Given the description of an element on the screen output the (x, y) to click on. 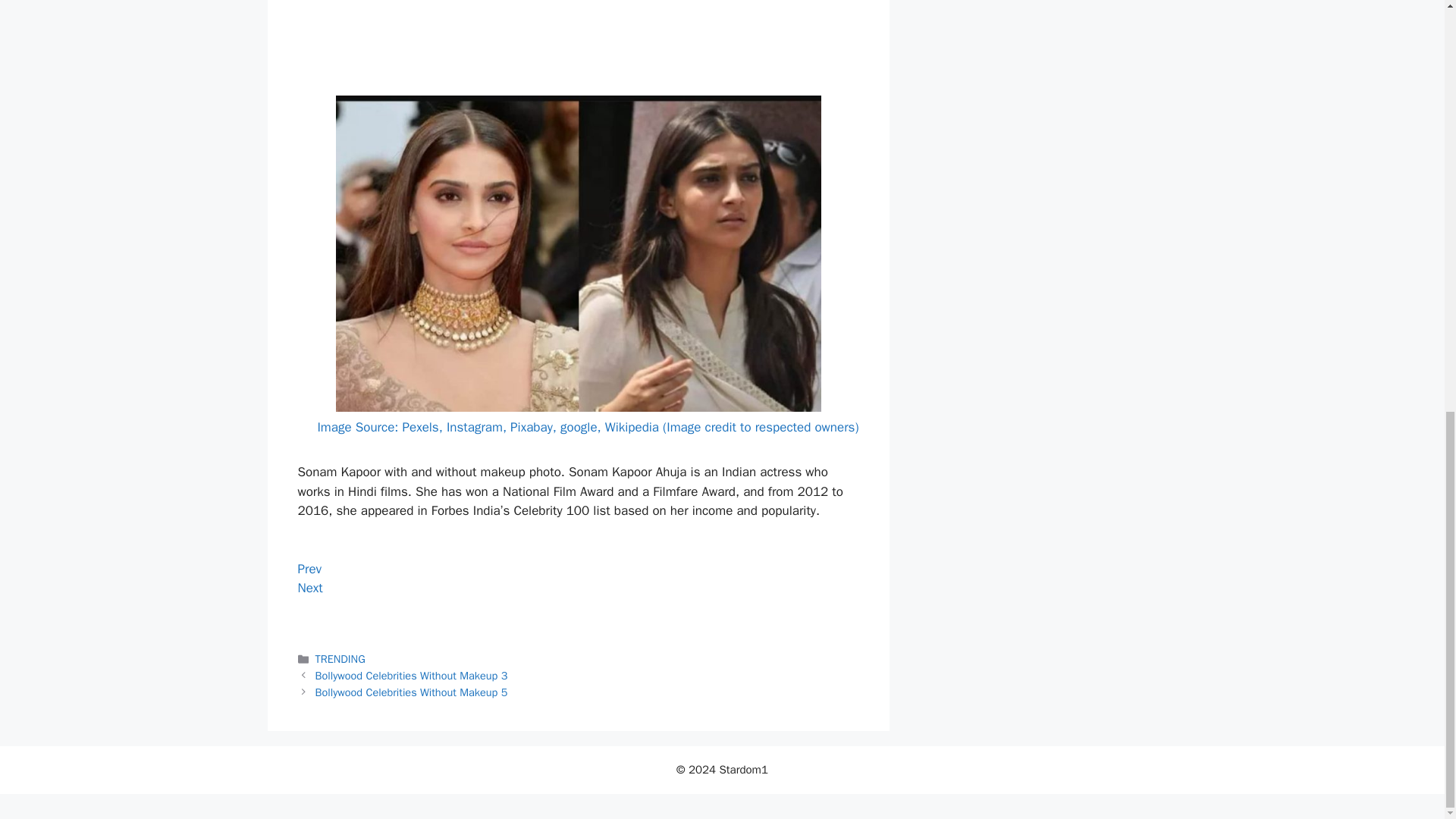
Bollywood Celebrities Without Makeup 5 (411, 692)
Advertisement (578, 44)
TRENDING (340, 658)
Next (309, 587)
Bollywood Celebrities Without Makeup 3 (411, 675)
